Given the description of an element on the screen output the (x, y) to click on. 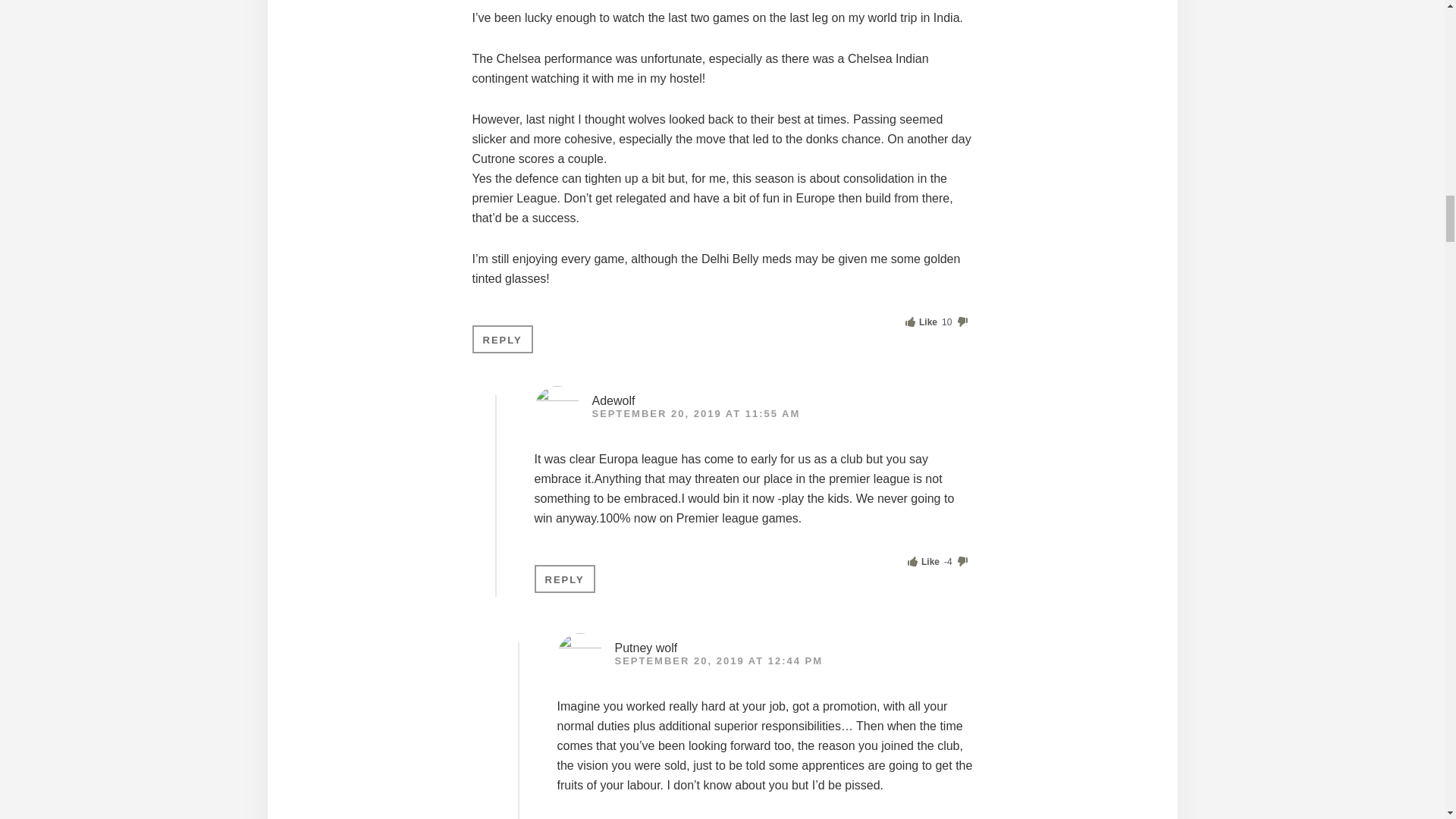
REPLY (564, 578)
SEPTEMBER 20, 2019 AT 11:55 AM (695, 413)
SEPTEMBER 20, 2019 AT 12:44 PM (718, 660)
REPLY (501, 338)
